Given the description of an element on the screen output the (x, y) to click on. 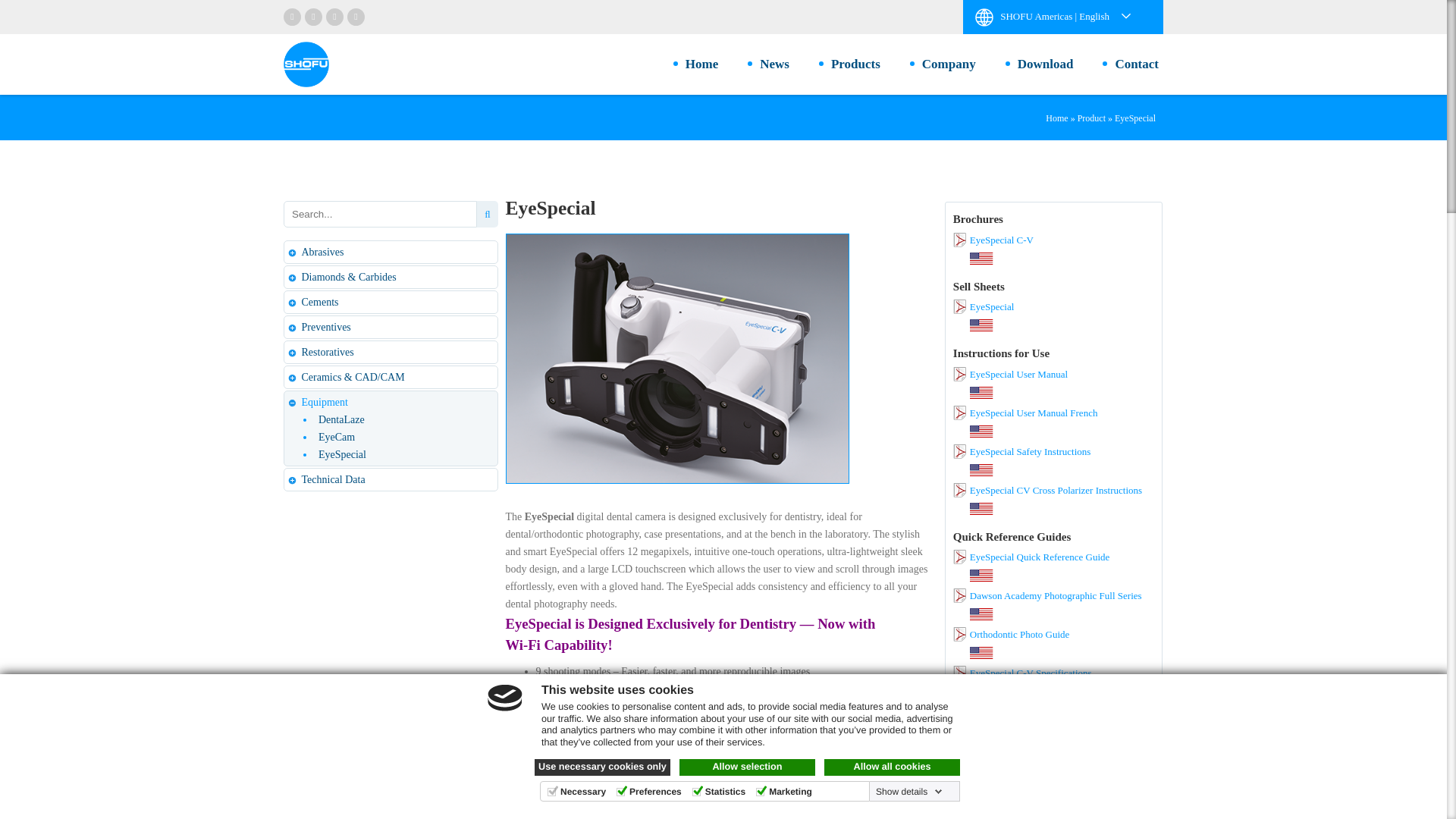
Allow selection (747, 767)
Allow all cookies (891, 767)
Show details (908, 791)
Use necessary cookies only (601, 767)
